Given the description of an element on the screen output the (x, y) to click on. 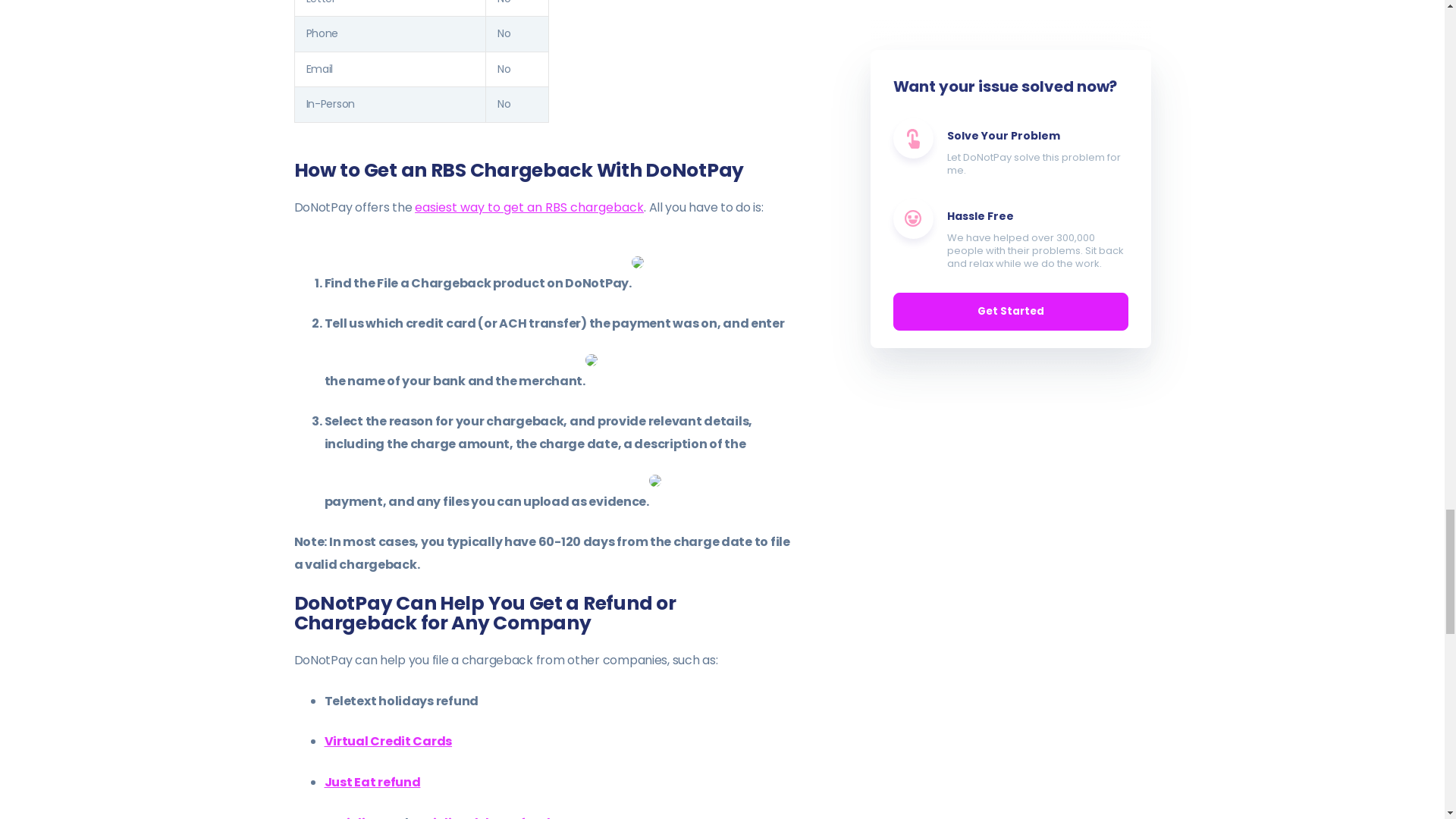
Trainline (352, 816)
Virtual Credit Cards (388, 741)
easiest way to get an RBS chargeback (528, 207)
Just Eat refund (372, 782)
